Given the description of an element on the screen output the (x, y) to click on. 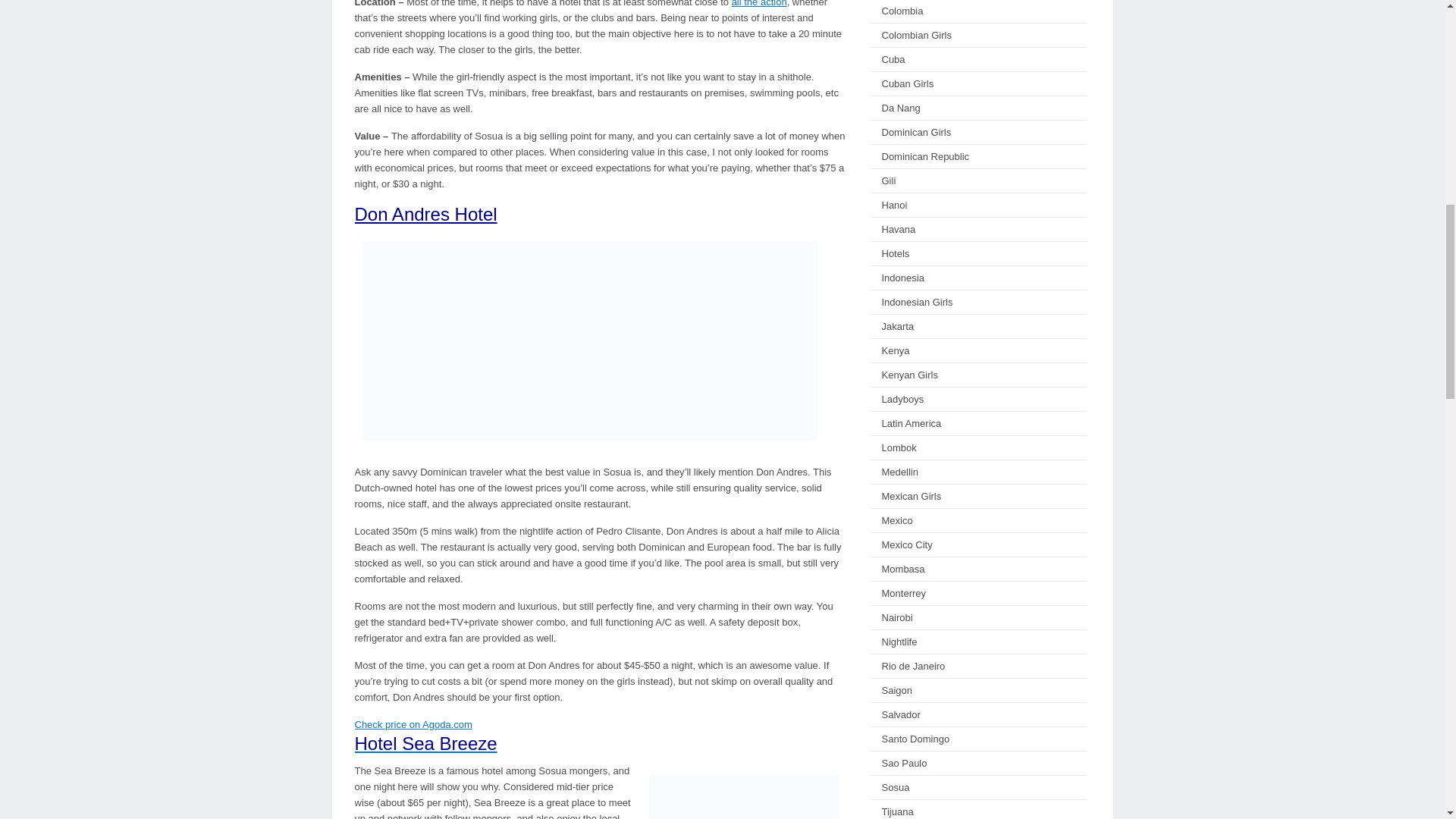
Check price on Agoda.com (413, 724)
Don Andres Hotel (426, 213)
Hotel Sea Breeze (426, 743)
Lady Friendly Hotel in Sosua (744, 792)
all the action (759, 3)
5 Places to Meet Girls for Sex in Sosua (759, 3)
Guest Friendly Hotel in Sosua (590, 340)
